Given the description of an element on the screen output the (x, y) to click on. 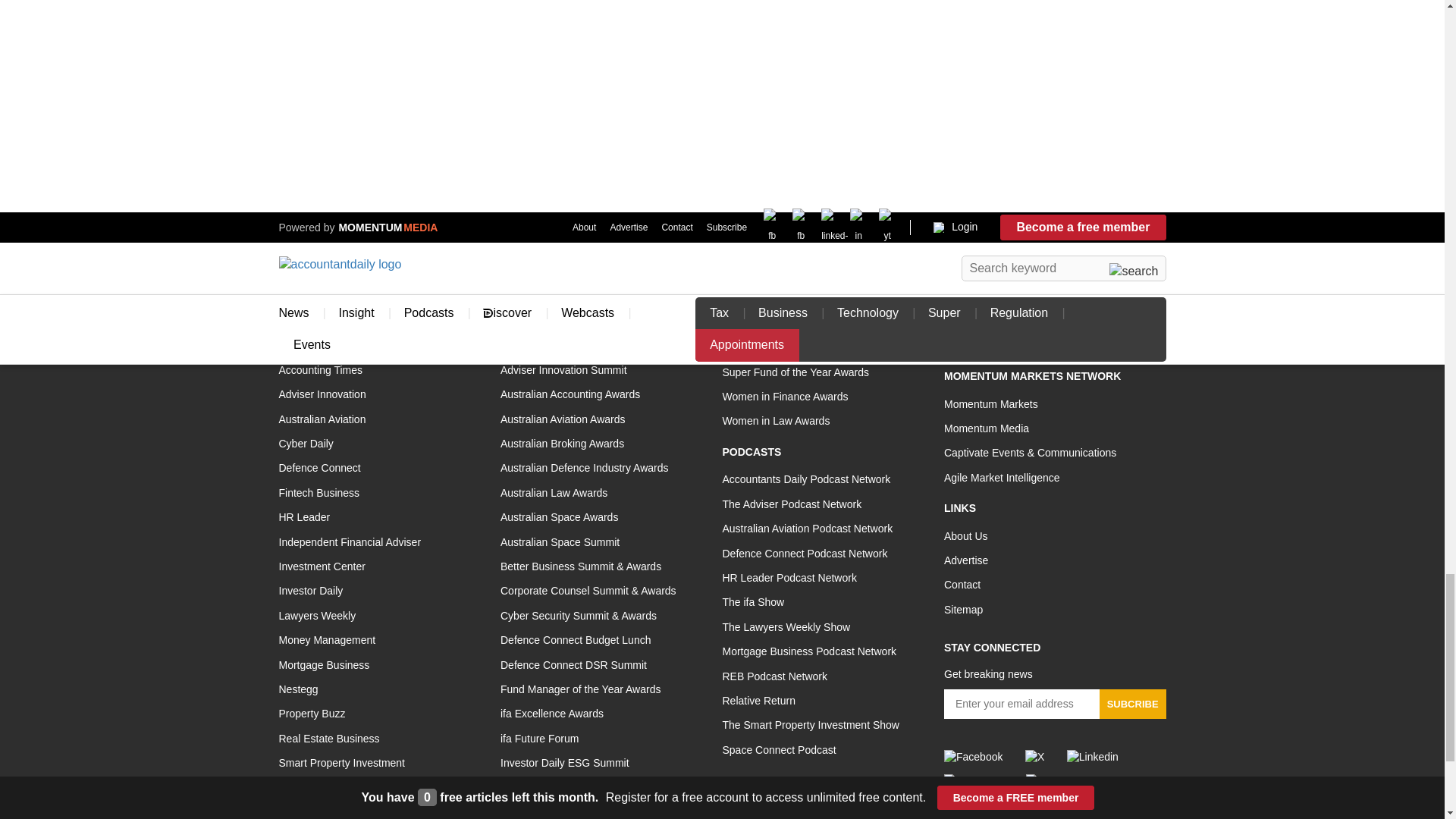
SUBCRIBE (1132, 704)
